Given the description of an element on the screen output the (x, y) to click on. 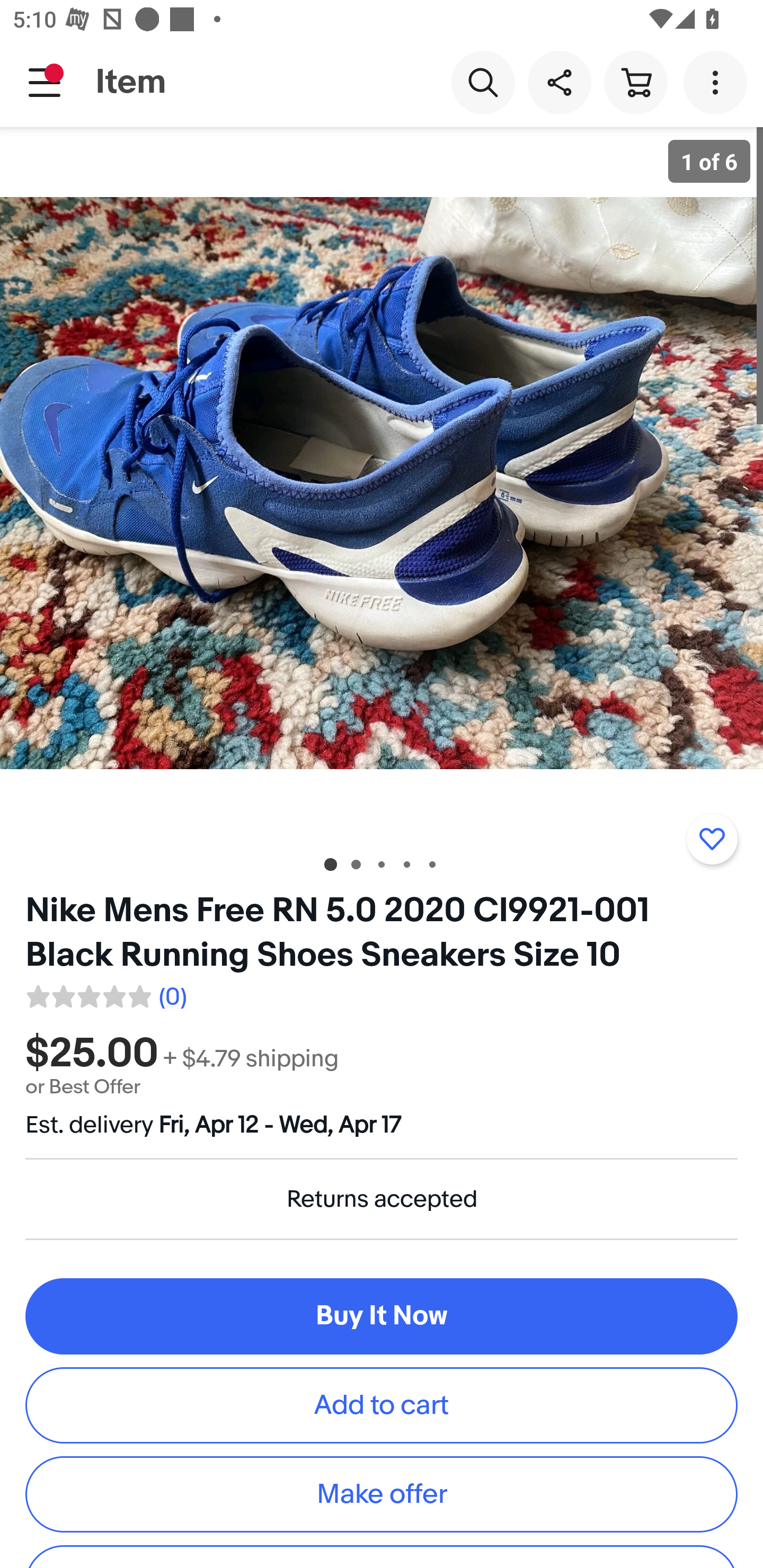
Main navigation, notification is pending, open (44, 82)
Search (482, 81)
Share this item (559, 81)
Cart button shopping cart (635, 81)
More options (718, 81)
Item image 1 of 6 (381, 482)
Add to watchlist (711, 838)
0 reviews. Average rating 0.0 out of five 0.0 (0) (105, 993)
Buy It Now (381, 1315)
Add to cart (381, 1405)
Make offer (381, 1493)
